Given the description of an element on the screen output the (x, y) to click on. 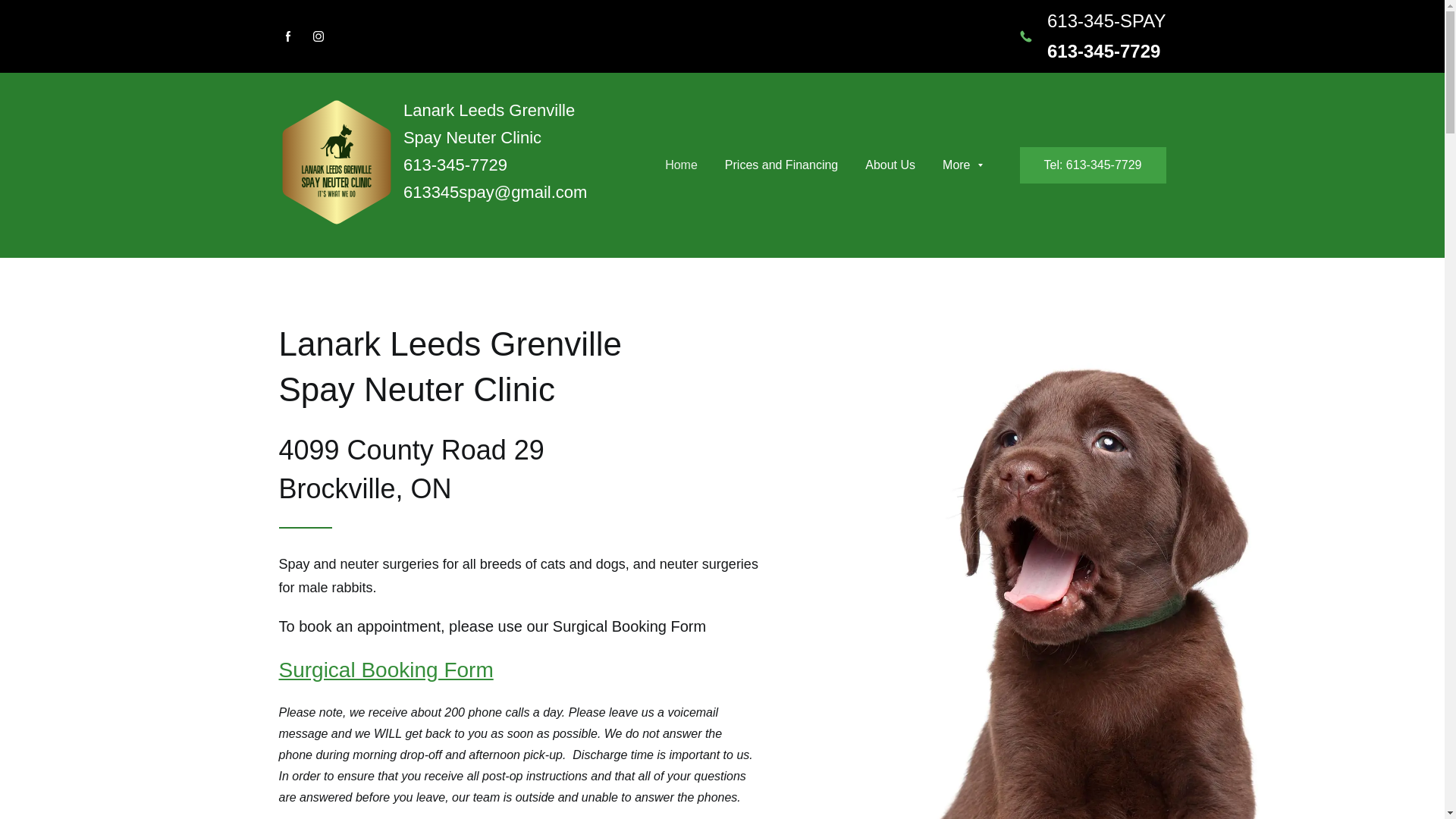
More Element type: text (962, 164)
Surgical Booking Form Element type: text (386, 669)
About Us Element type: text (890, 164)
Prices and Financing Element type: text (780, 164)
Home Element type: text (681, 164)
Tel: 613-345-7729 Element type: text (1092, 165)
